Given the description of an element on the screen output the (x, y) to click on. 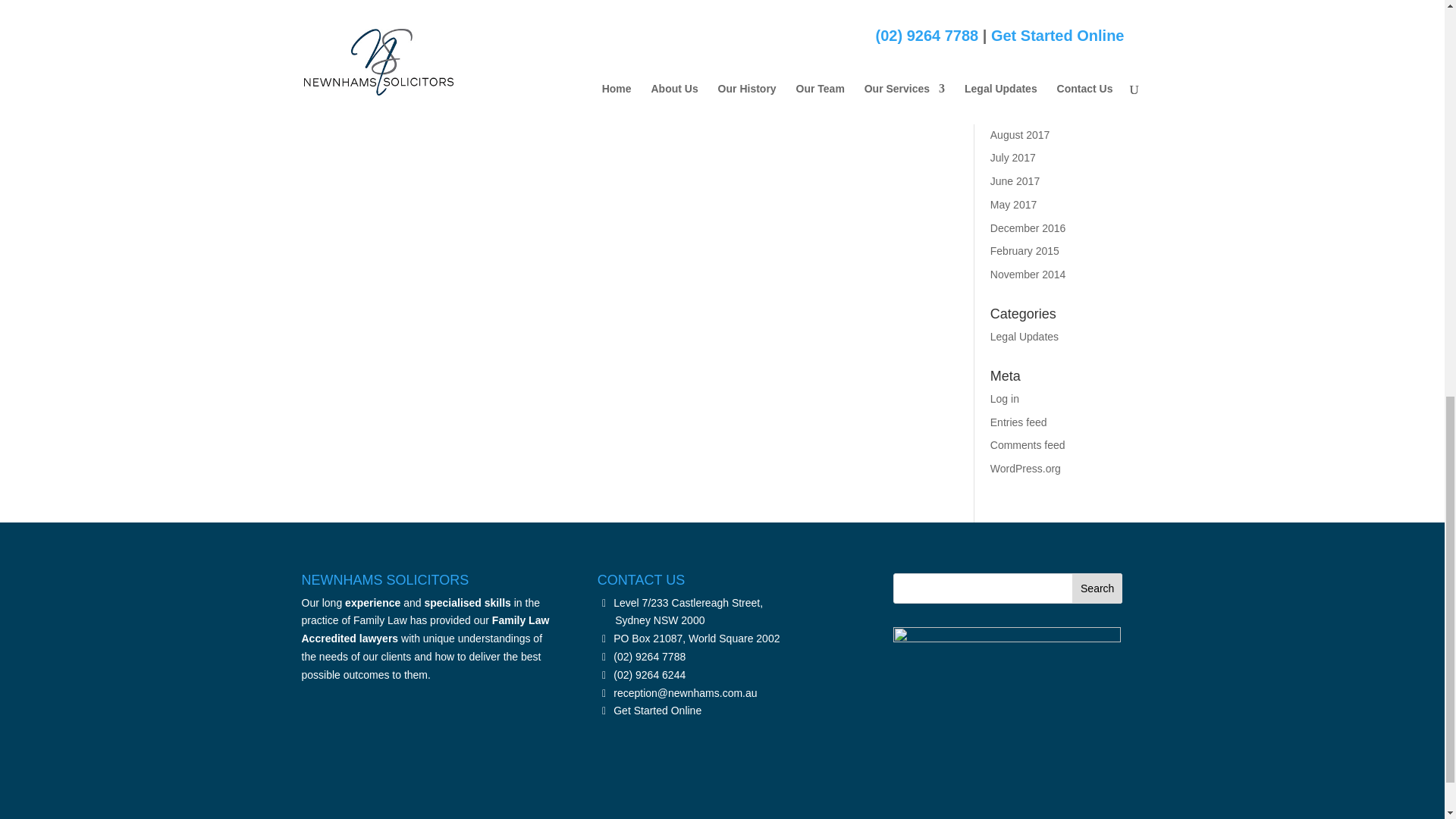
September 2017 (1029, 111)
August 2019 (1019, 18)
October 2017 (1022, 87)
December 2017 (1027, 40)
November 2017 (1027, 64)
Search (1096, 588)
October 2019 (1022, 0)
